Given the description of an element on the screen output the (x, y) to click on. 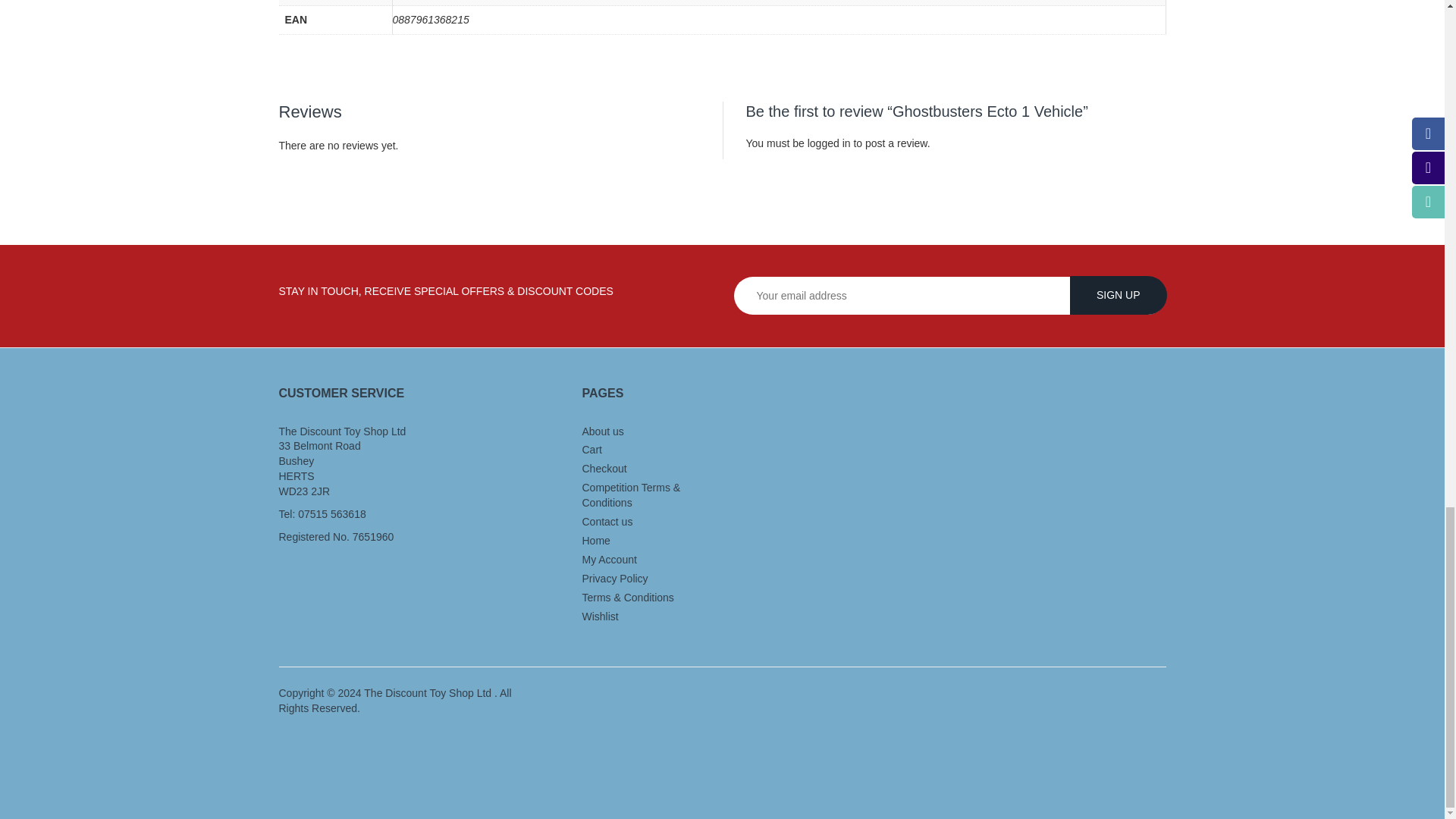
Sign up (1118, 295)
